Given the description of an element on the screen output the (x, y) to click on. 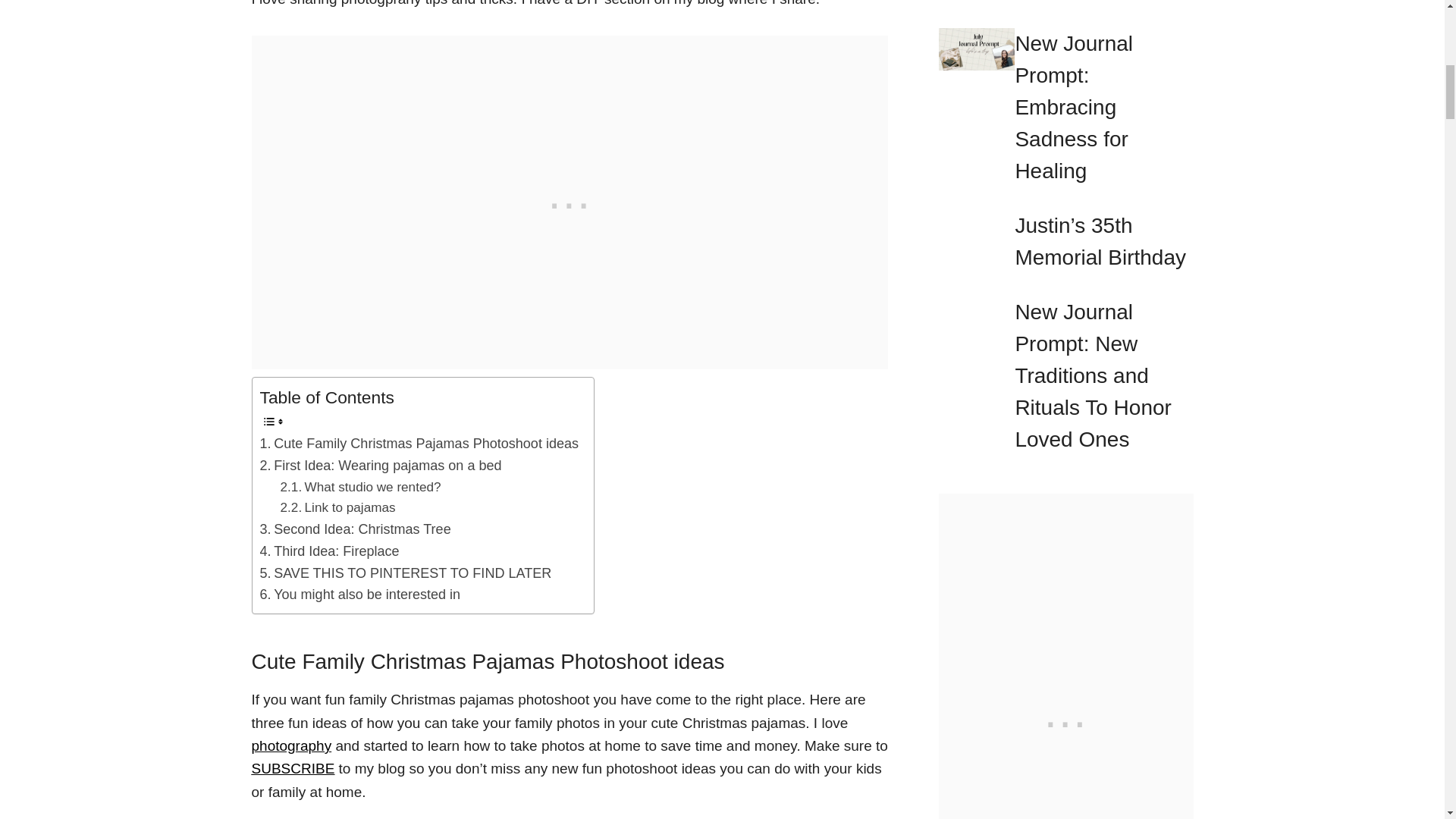
Cute Family Christmas Pajamas Photoshoot ideas (418, 444)
What studio we rented? (361, 486)
Third Idea: Fireplace (328, 551)
You might also be interested in (359, 594)
First Idea: Wearing pajamas on a bed (379, 465)
Link to pajamas (338, 507)
SAVE THIS TO PINTEREST TO FIND LATER (405, 573)
Second Idea: Christmas Tree (354, 529)
